Given the description of an element on the screen output the (x, y) to click on. 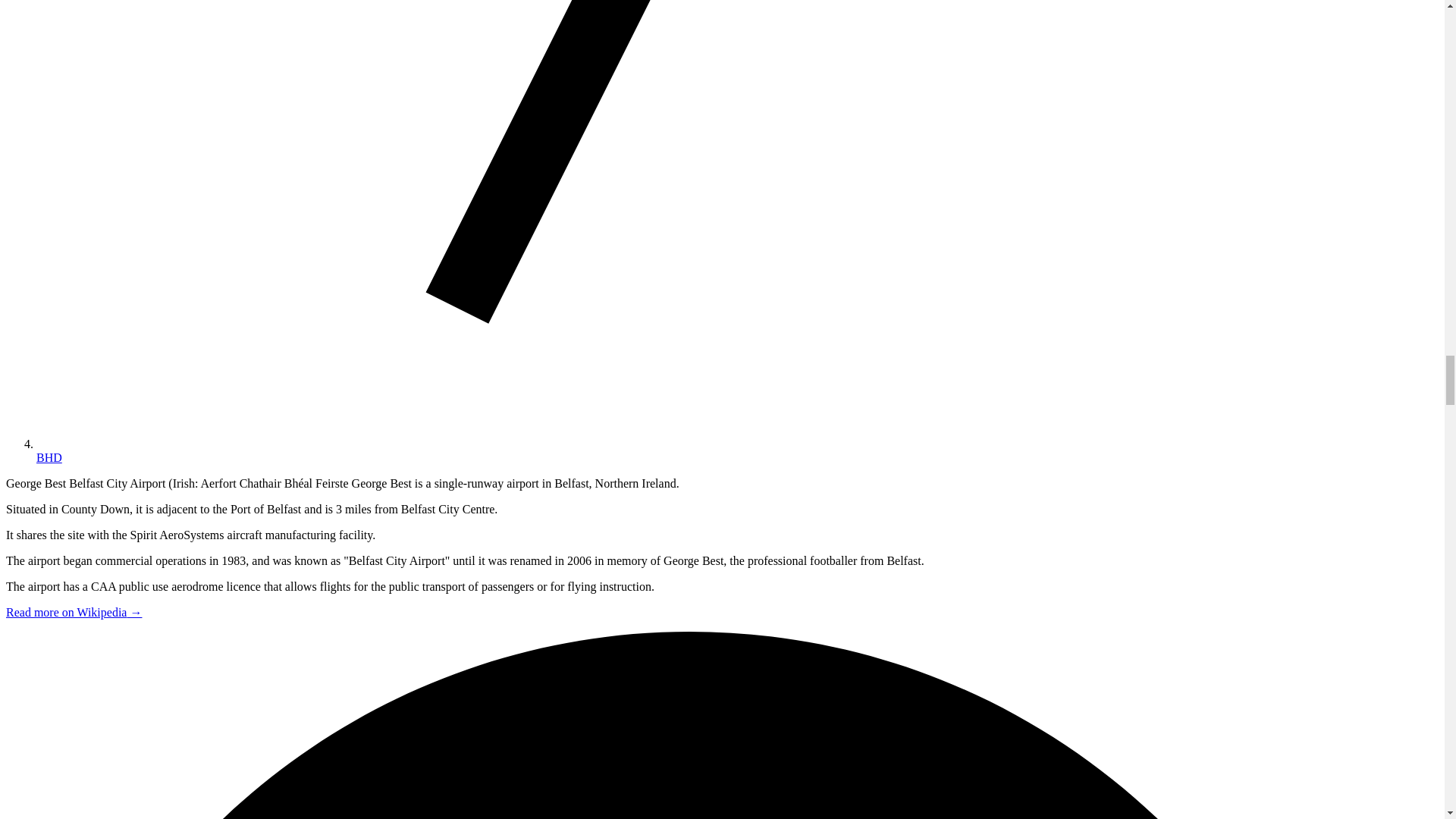
BHD (49, 457)
